Given the description of an element on the screen output the (x, y) to click on. 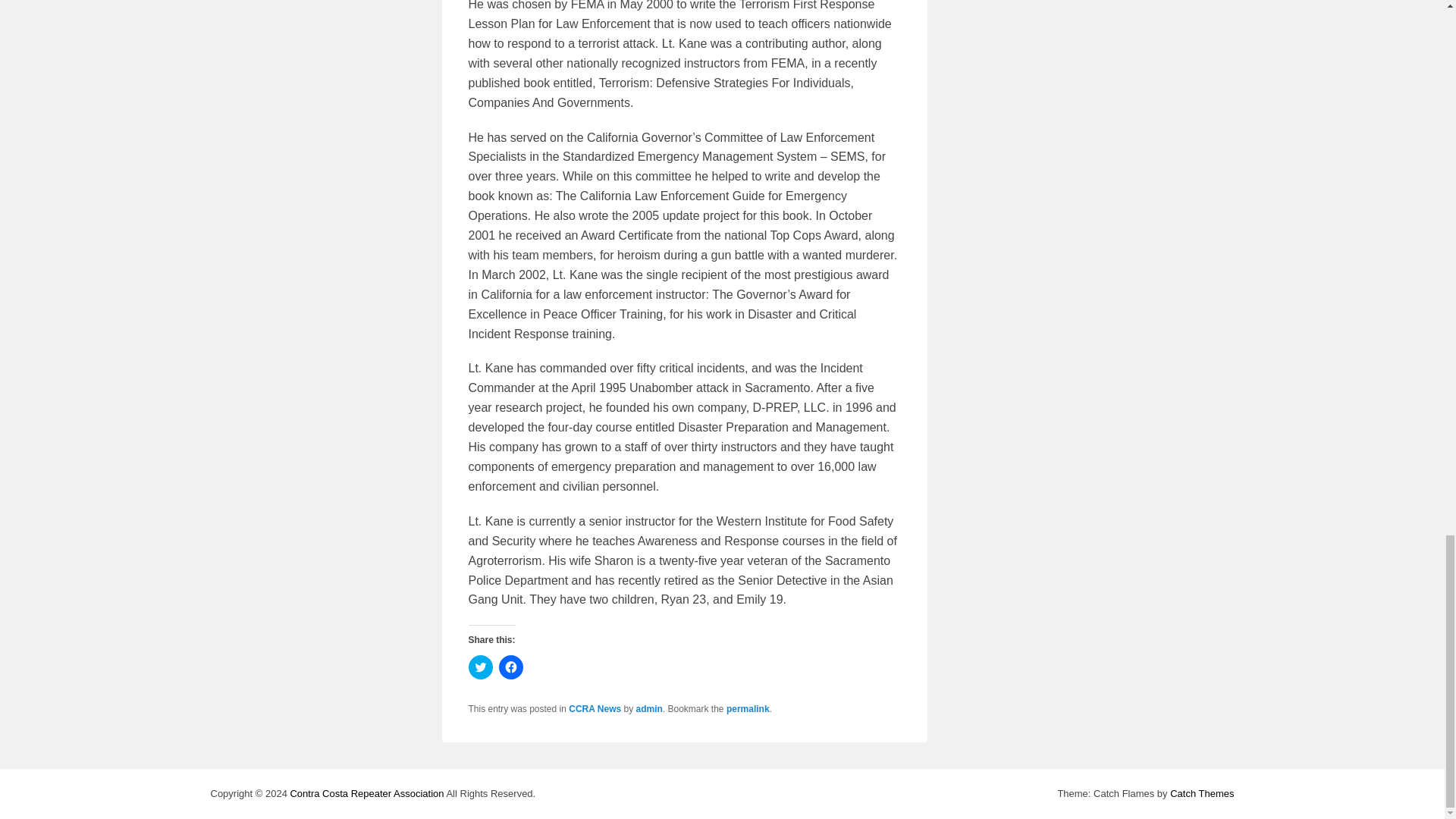
Click to share on Facebook (510, 667)
Catch Themes (1201, 793)
Contra Costa Repeater Association (366, 793)
Click to share on Twitter (480, 667)
